Given the description of an element on the screen output the (x, y) to click on. 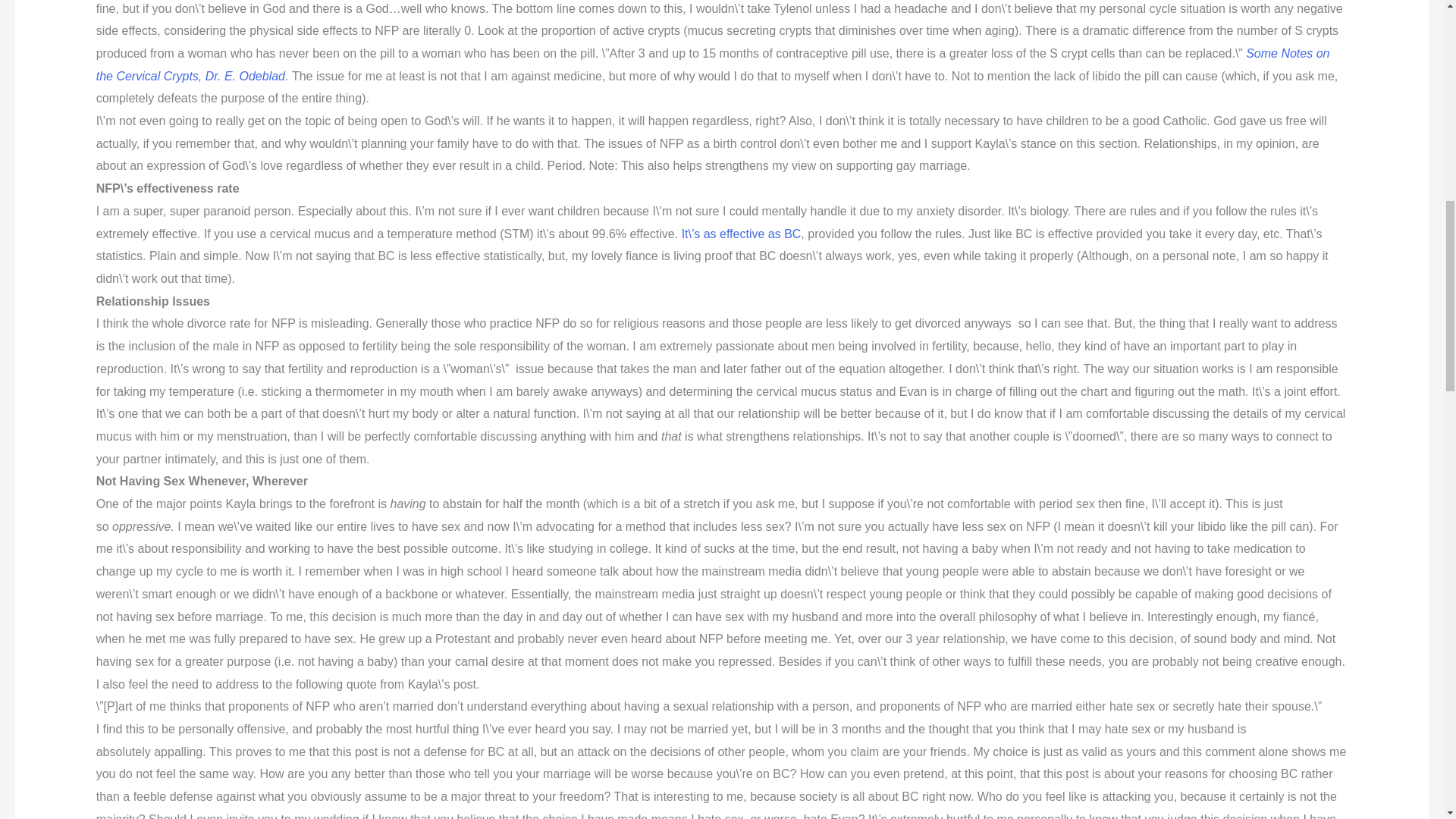
Some Notes on the Cervical Crypts, Dr. E. Odeblad (713, 64)
